Given the description of an element on the screen output the (x, y) to click on. 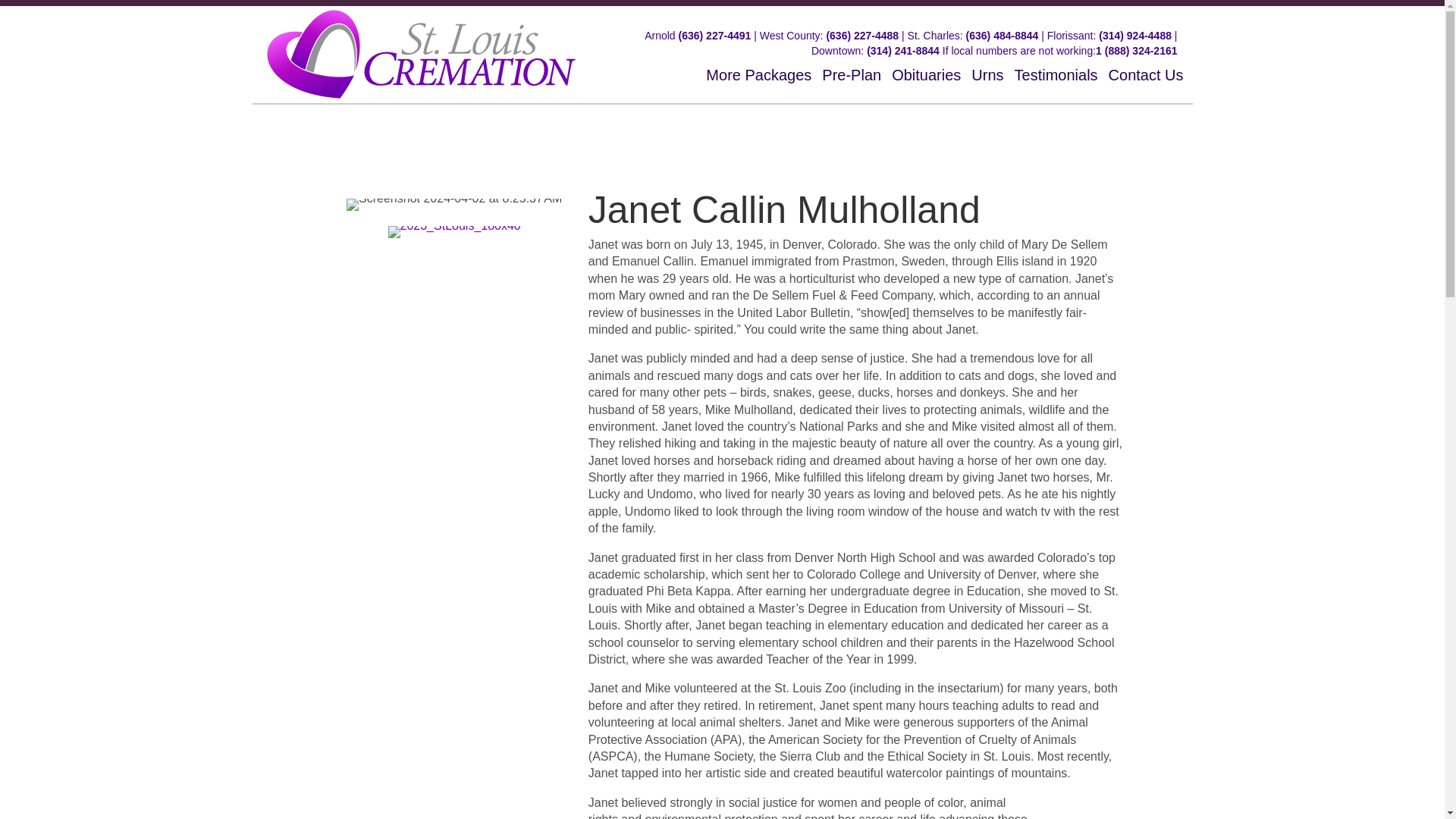
Urns (986, 74)
Pre-Plan (851, 74)
Testimonials (1056, 74)
Contact Us (1145, 74)
More Packages (758, 74)
Obituaries (925, 74)
St. Louis Cremation (420, 53)
